Given the description of an element on the screen output the (x, y) to click on. 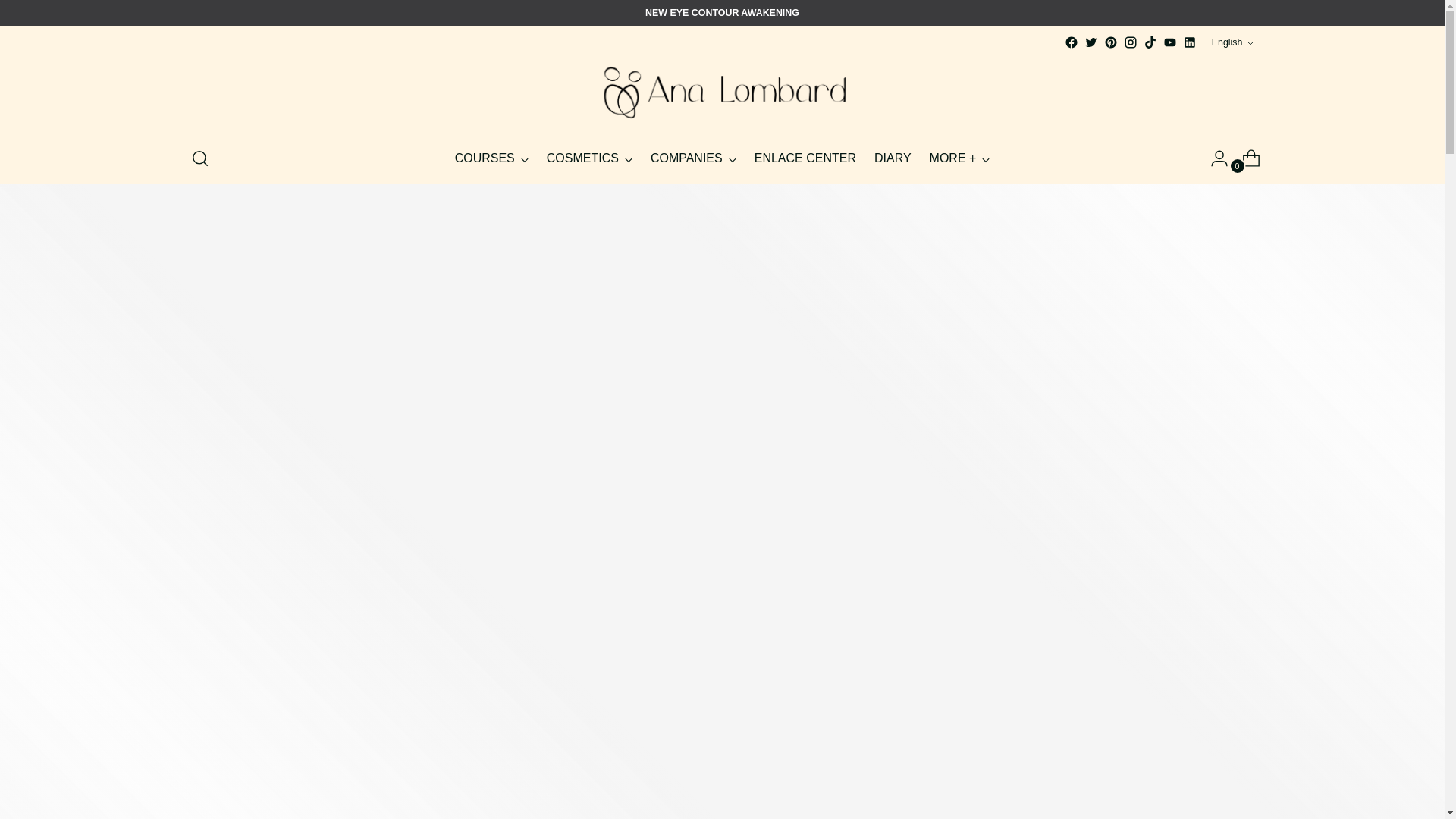
Ana Lombard on Facebook (1071, 42)
English (1232, 41)
NEW EYE CONTOUR AWAKENING (722, 12)
Ana Lombard on Twitter (1090, 42)
COSMETICS (589, 158)
COURSES (491, 158)
DIARY (893, 158)
COMPANIES (693, 158)
Ana Lombard on Tiktok (1149, 42)
Ana Lombard on YouTube (1169, 42)
Ana Lombard on Pinterest (1110, 42)
ENLACE CENTER (805, 158)
Ana Lombard on Instagram (1130, 42)
Ana Lombard on LinkedIn (1189, 42)
